Given the description of an element on the screen output the (x, y) to click on. 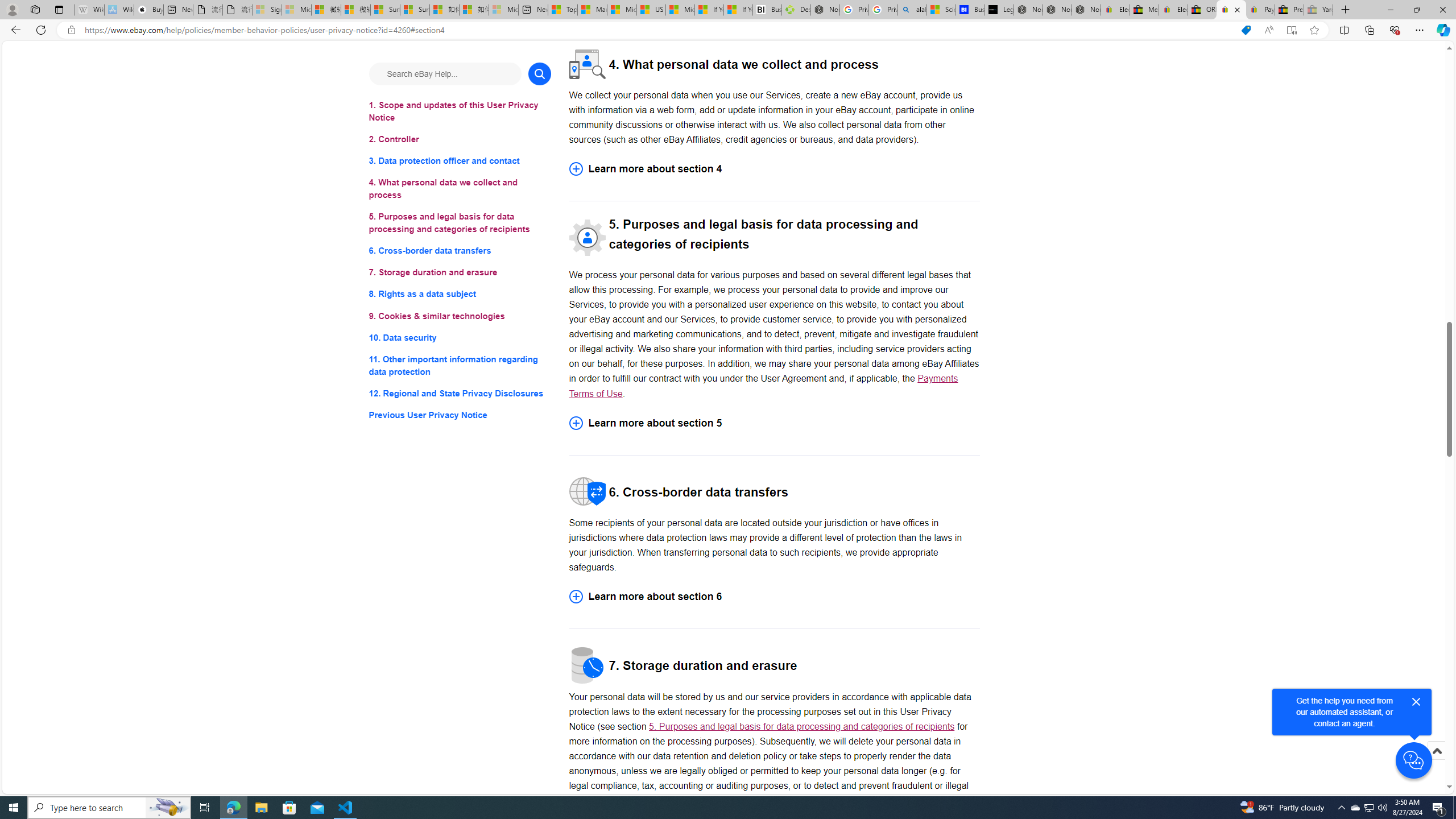
Payments Terms of Use - opens in new window or tab (763, 385)
8. Rights as a data subject (459, 293)
